Given the description of an element on the screen output the (x, y) to click on. 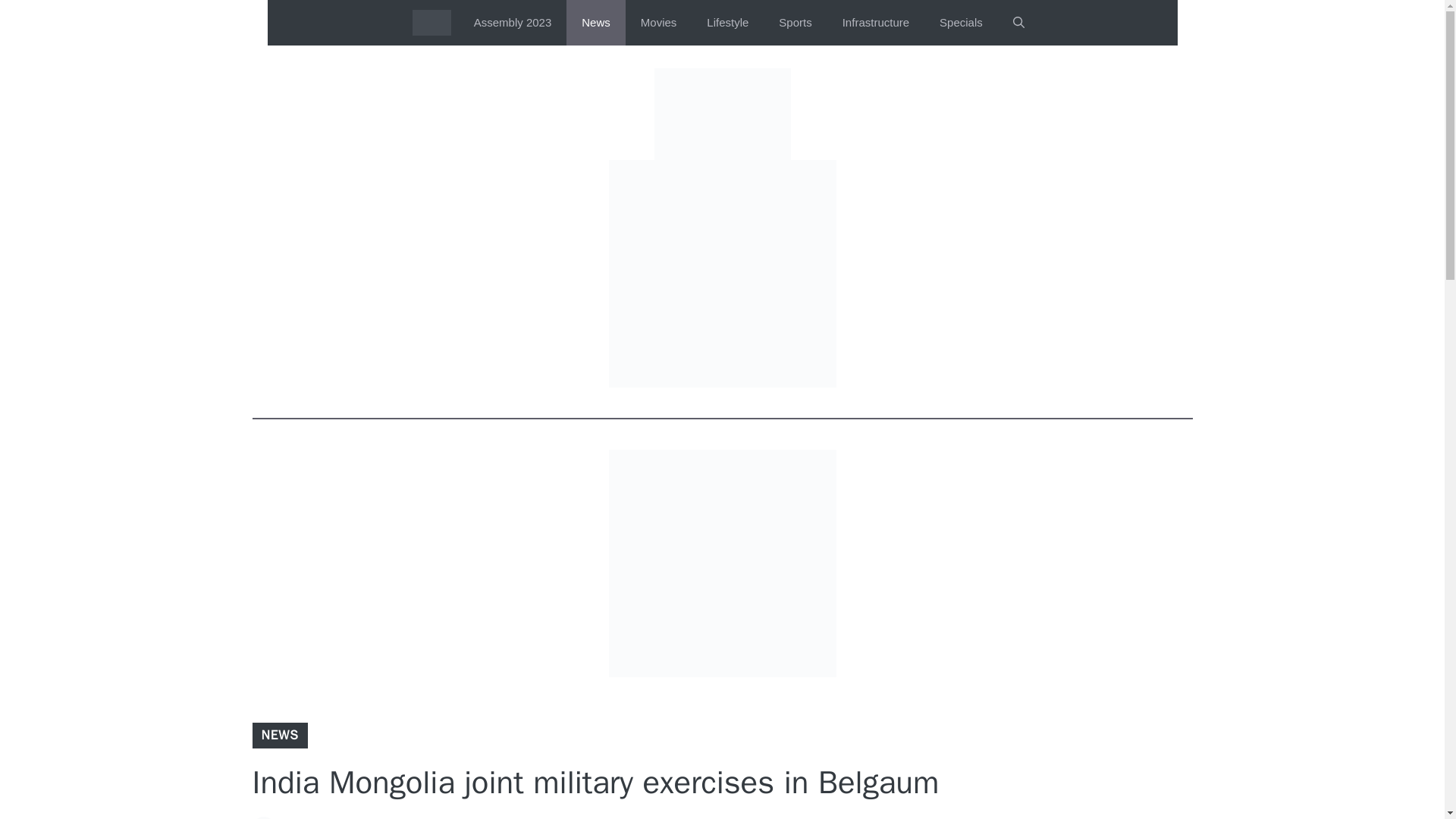
Movies (659, 22)
Infrastructure (875, 22)
All About Belgaum (431, 22)
Lifestyle (726, 22)
Assembly 2023 (512, 22)
NEWS (279, 734)
Sports (794, 22)
Specials (960, 22)
News (596, 22)
